Given the description of an element on the screen output the (x, y) to click on. 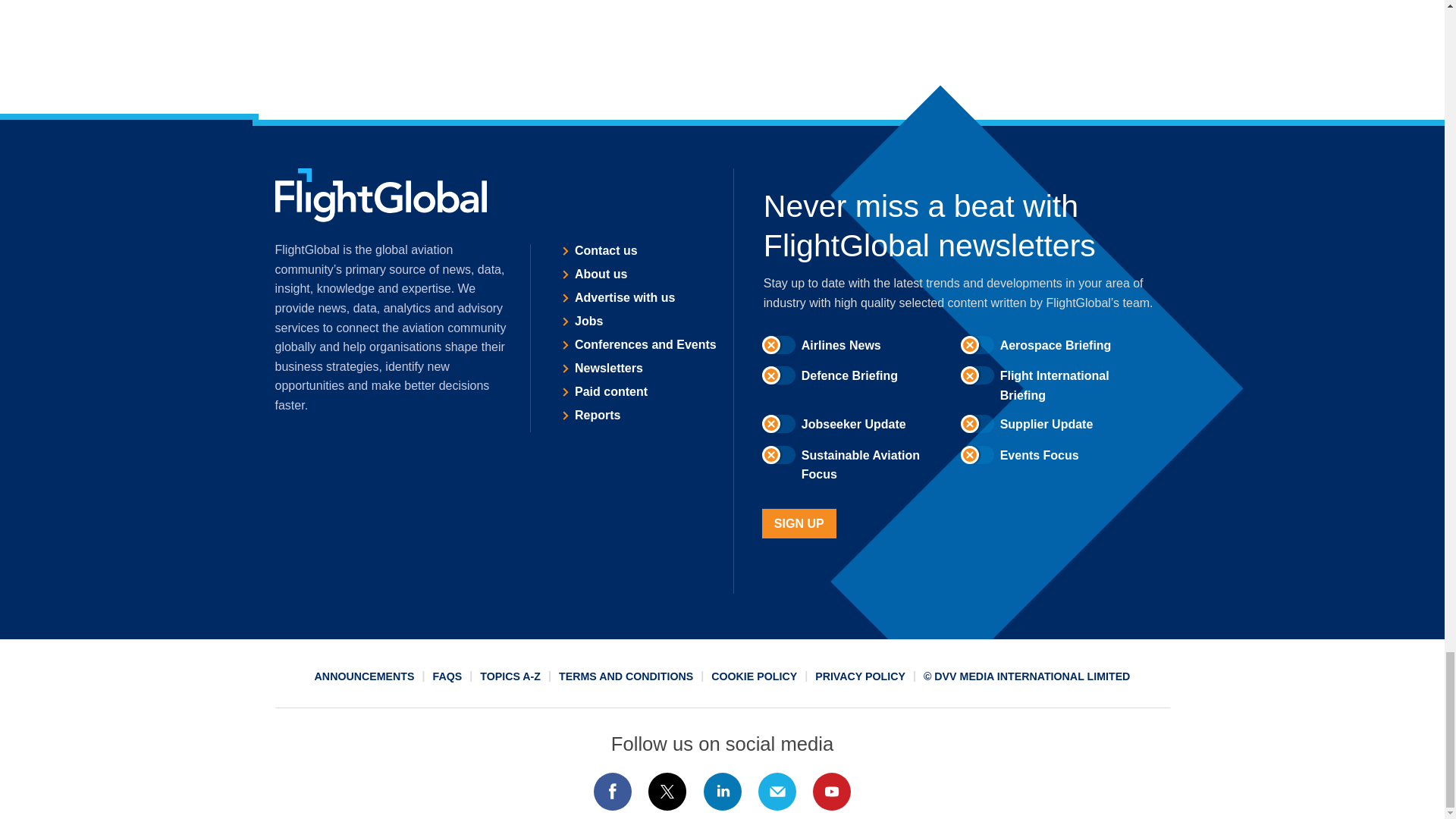
Connect with us on Facebook (611, 791)
Connect with us on Linked In (721, 791)
Connect with us on Youtube (831, 791)
Connect with us on Twitter (667, 791)
Email us (776, 791)
